Given the description of an element on the screen output the (x, y) to click on. 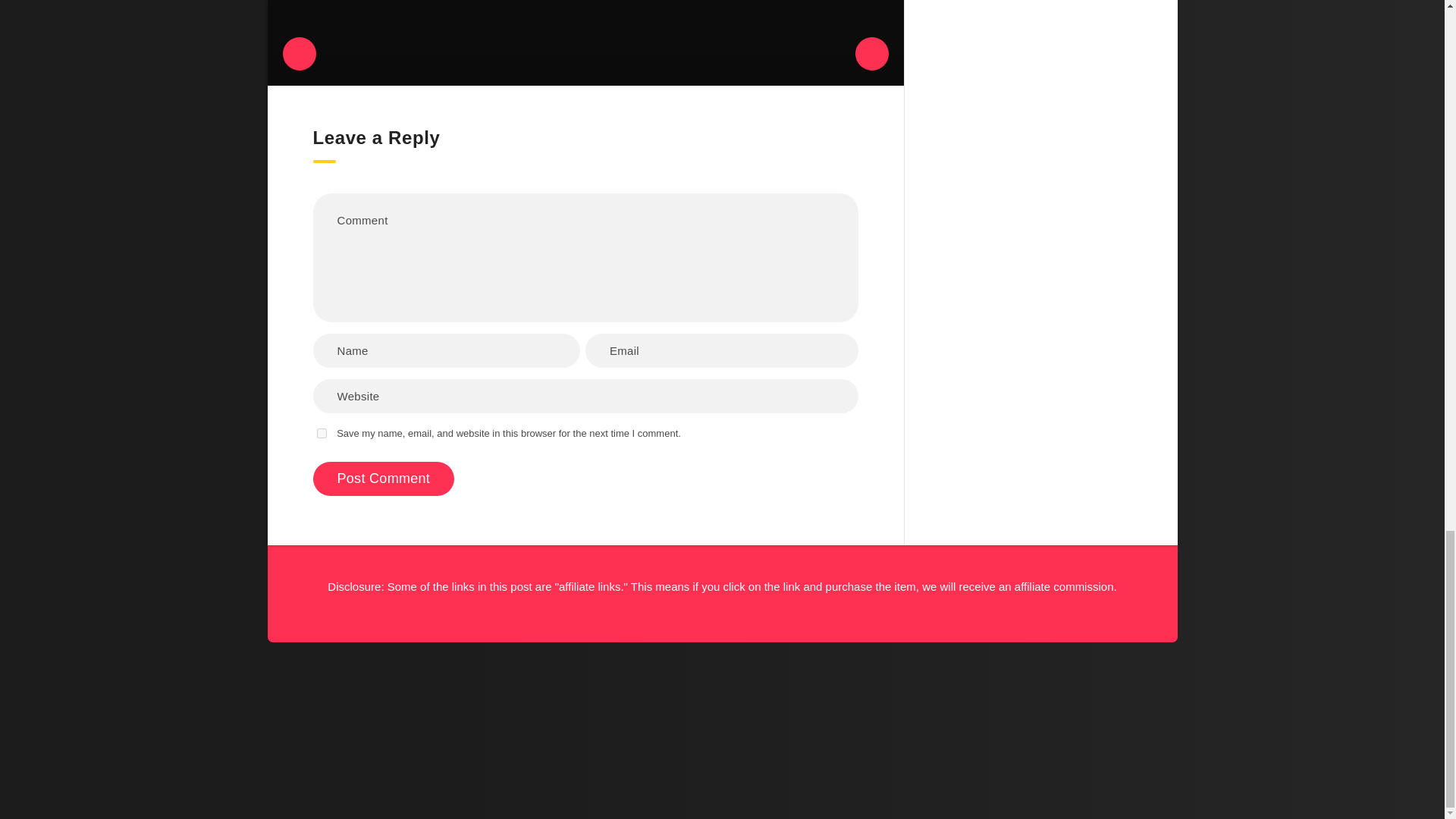
yes (321, 433)
Post Comment (383, 478)
Post Comment (383, 478)
